Given the description of an element on the screen output the (x, y) to click on. 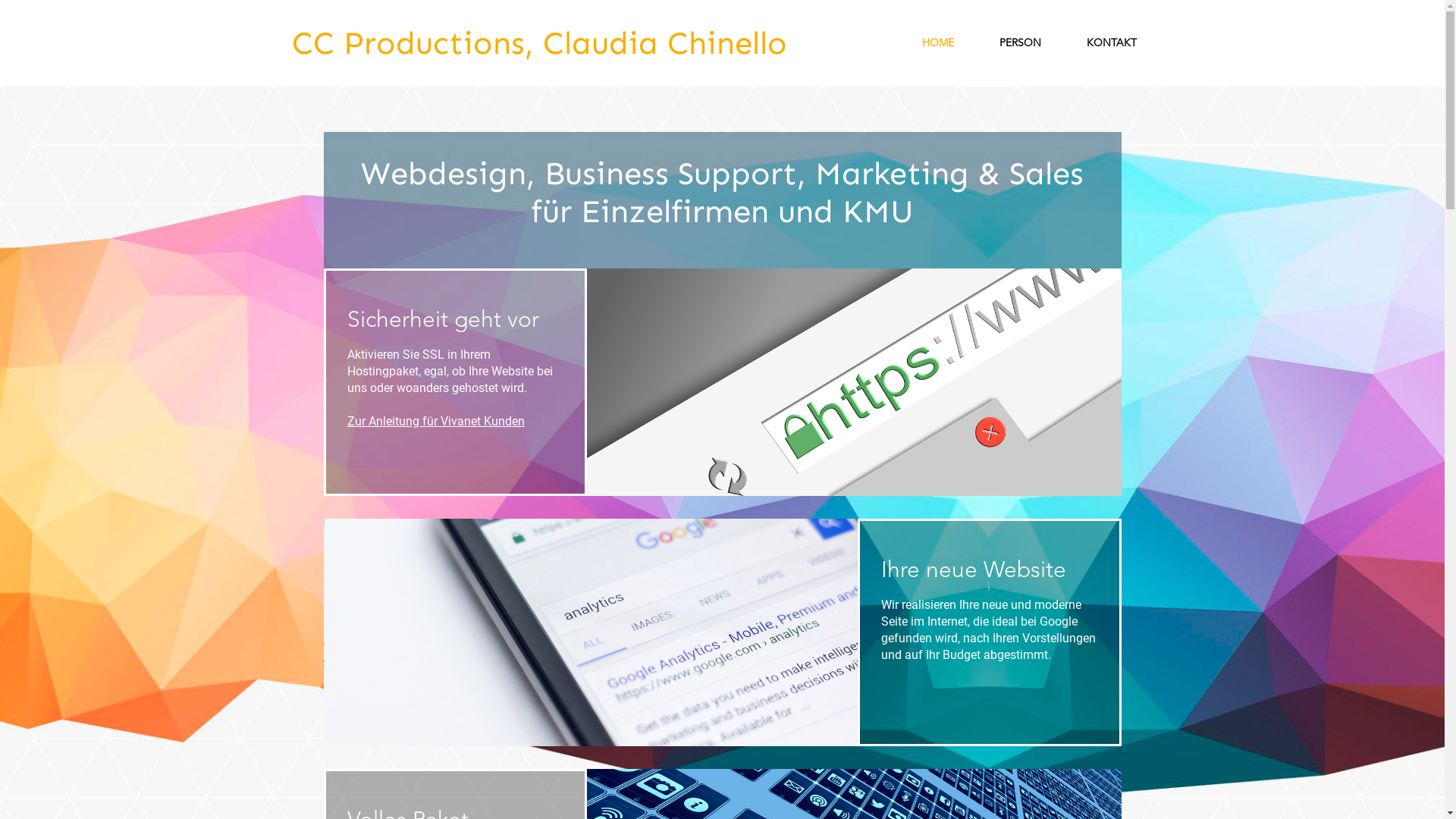
KONTAKT Element type: text (1110, 42)
PERSON Element type: text (1019, 42)
HOME Element type: text (937, 42)
